Given the description of an element on the screen output the (x, y) to click on. 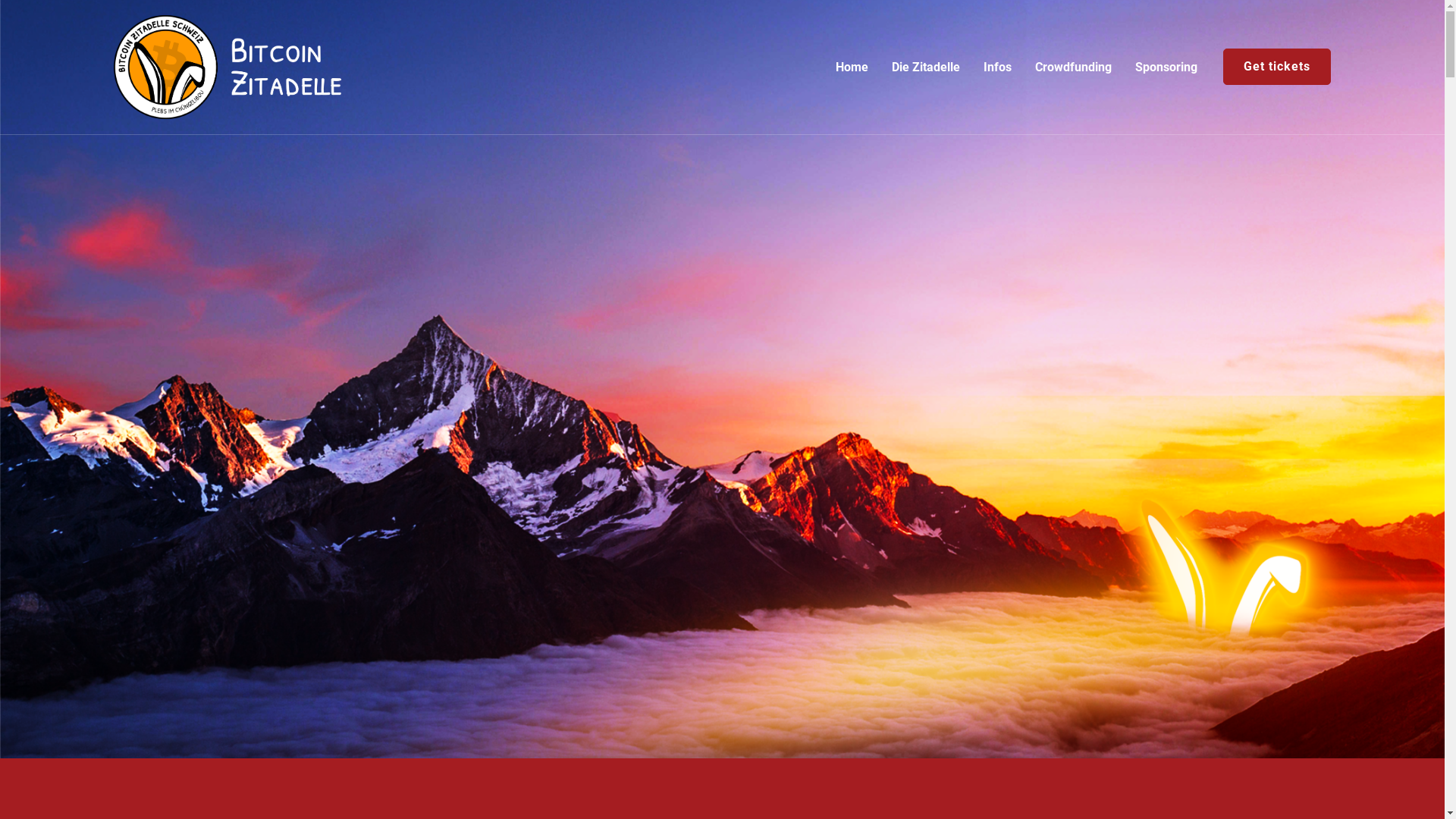
Sponsoring Element type: text (1166, 66)
Infos Element type: text (997, 66)
Get tickets Element type: text (1276, 66)
Die Zitadelle Element type: text (925, 66)
Crowdfunding Element type: text (1073, 66)
Home Element type: text (851, 66)
